Given the description of an element on the screen output the (x, y) to click on. 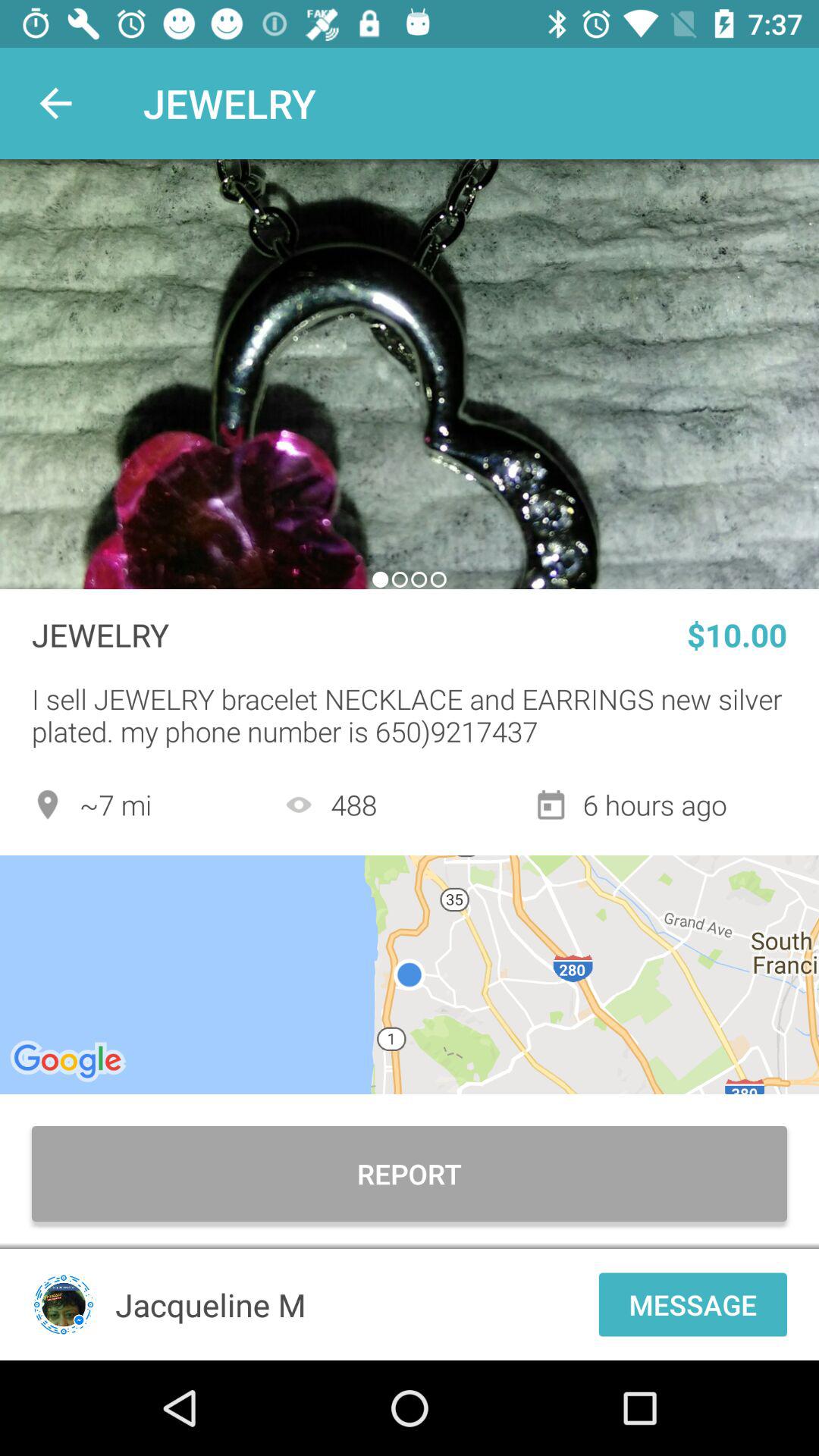
jump to report item (409, 1173)
